Given the description of an element on the screen output the (x, y) to click on. 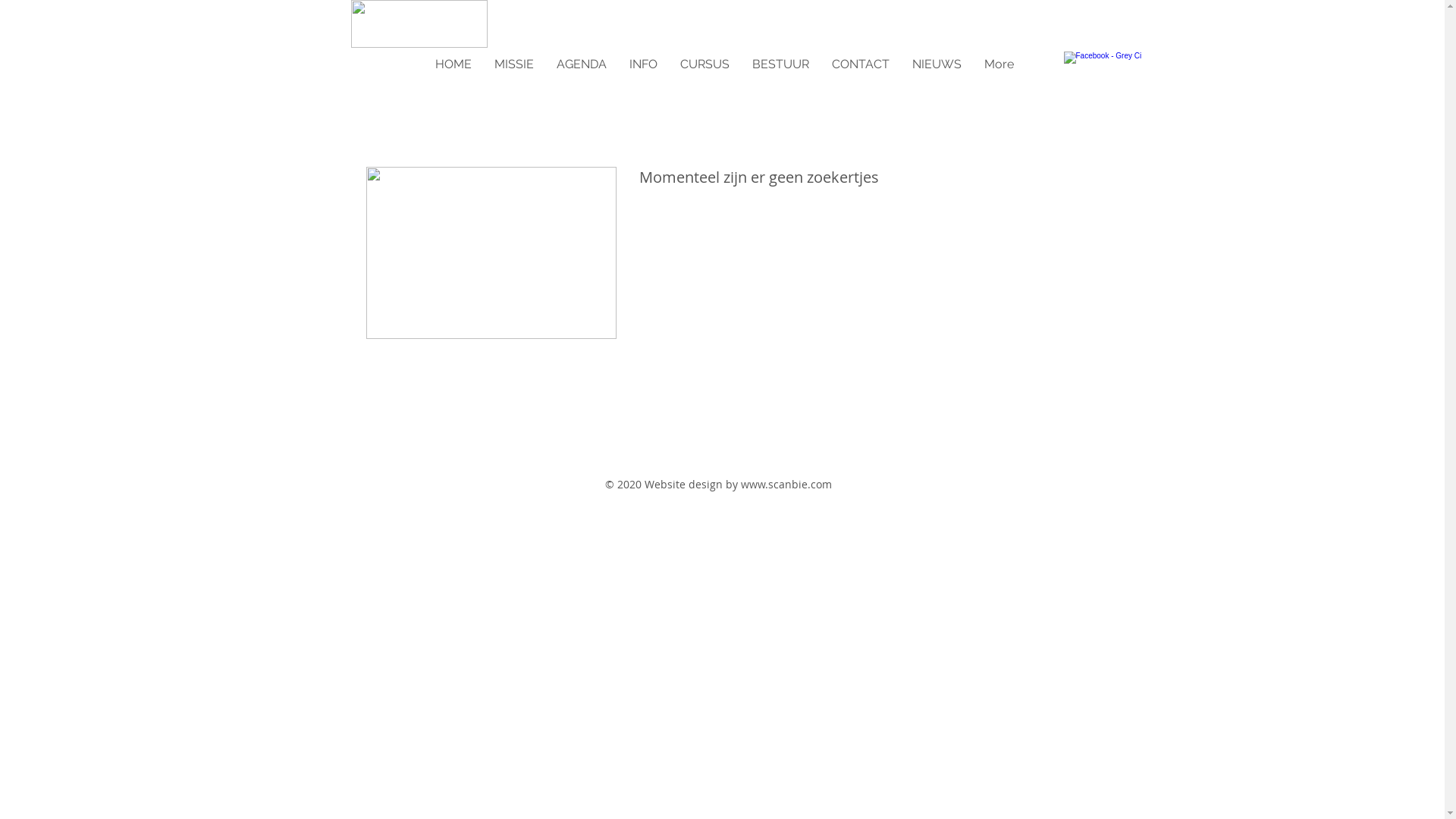
BESTUUR Element type: text (779, 64)
NIEUWS Element type: text (936, 64)
INFO Element type: text (642, 64)
Biegilde contact.jpg Element type: hover (490, 252)
CONTACT Element type: text (860, 64)
CURSUS Element type: text (704, 64)
MISSIE Element type: text (513, 64)
AGENDA Element type: text (580, 64)
HOME Element type: text (452, 64)
